Given the description of an element on the screen output the (x, y) to click on. 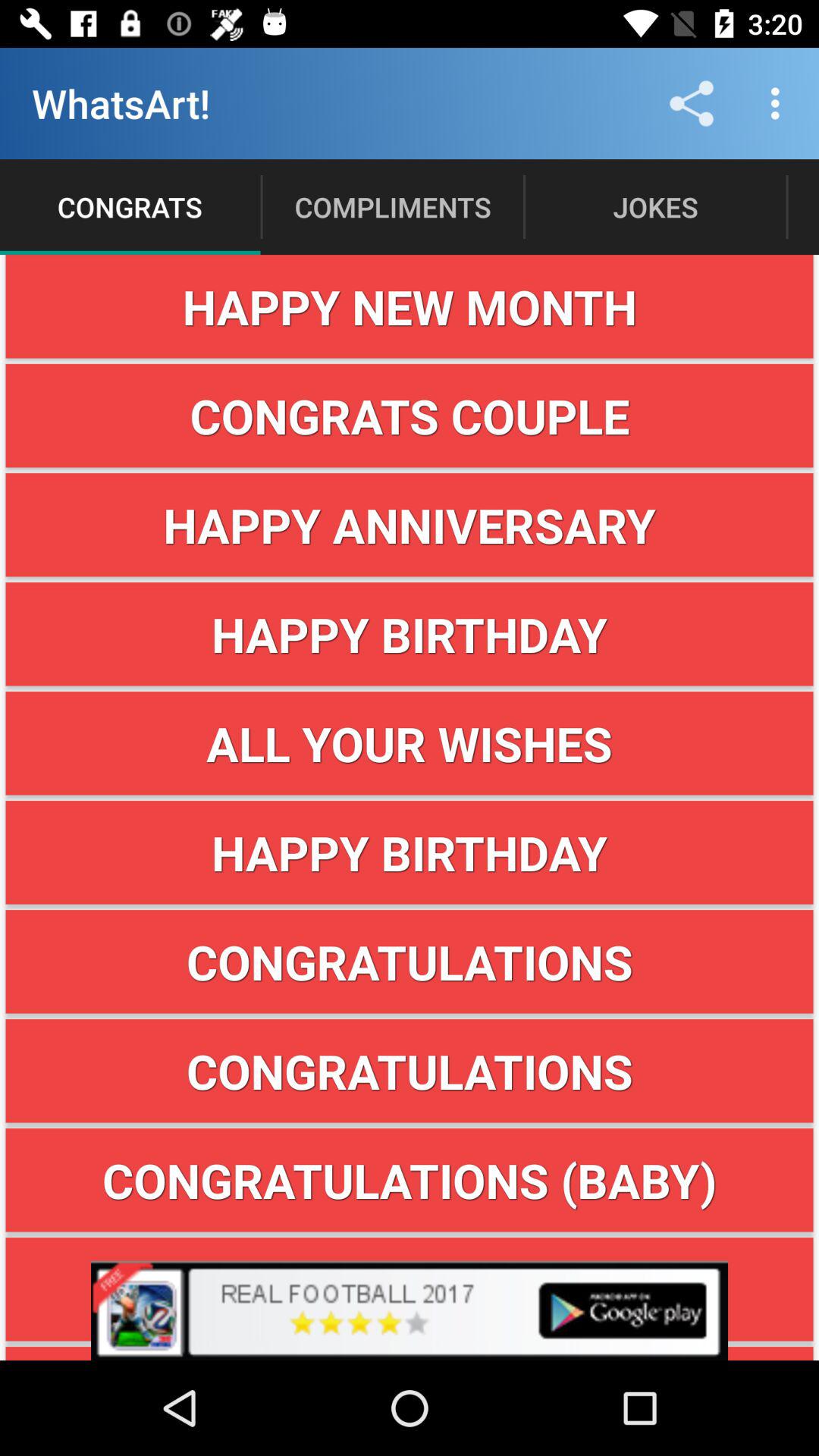
turn off the wow (409, 1289)
